Given the description of an element on the screen output the (x, y) to click on. 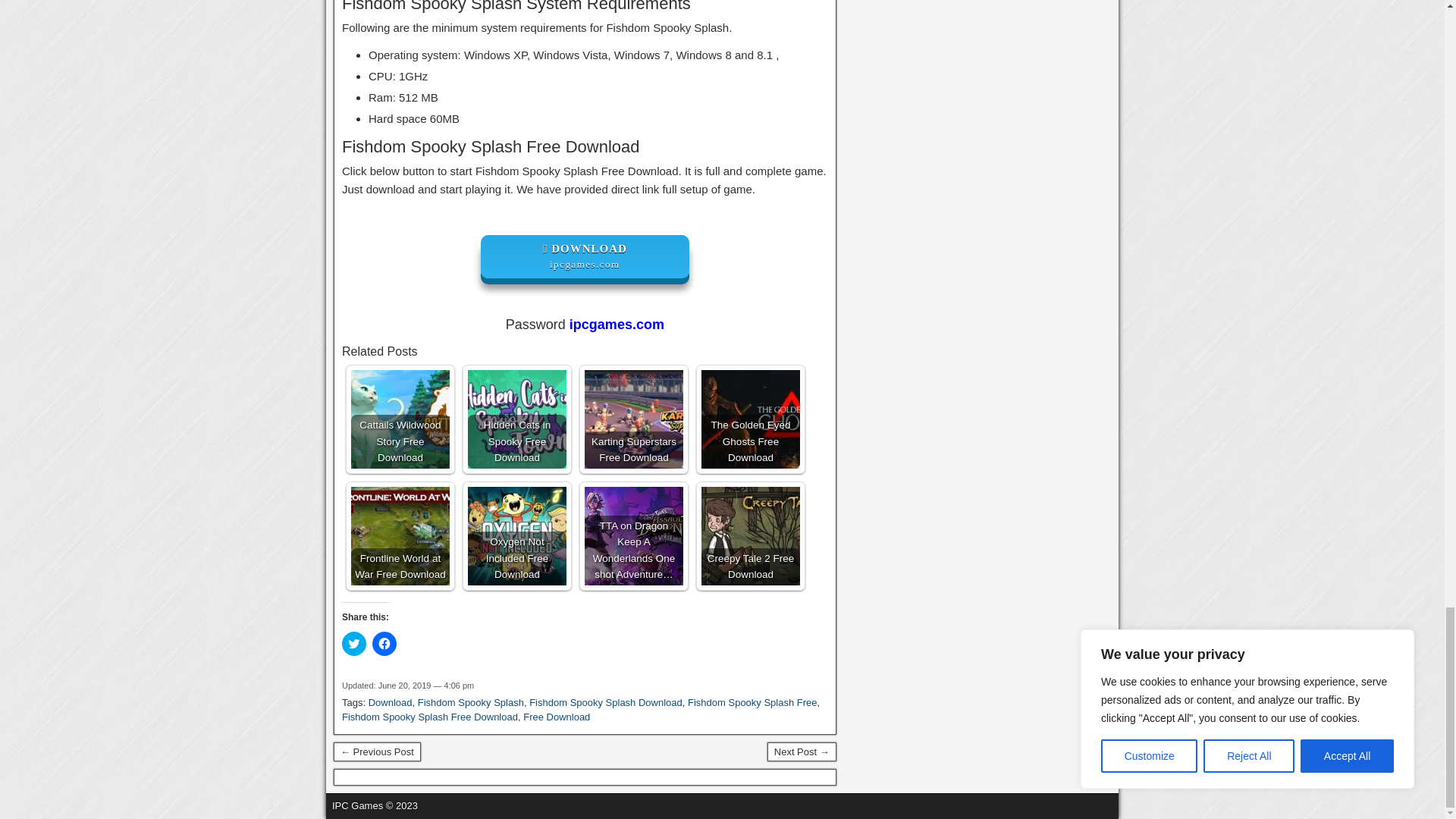
Click to share on Twitter (354, 643)
Frontline World at War Free Download (399, 535)
Hidden Cats in Spooky Free Download (516, 419)
Click to share on Facebook (384, 643)
Cattails Wildwood Story Free Download (399, 419)
Goodgame Empire Free Download (801, 752)
Fishdom Harvest Splash Free Download (376, 752)
Creepy Tale 2 Free Download (750, 535)
The Golden Eyed Ghosts Free Download (750, 419)
Karting Superstars Free Download (633, 419)
Oxygen Not Included Free Download (516, 535)
